Given the description of an element on the screen output the (x, y) to click on. 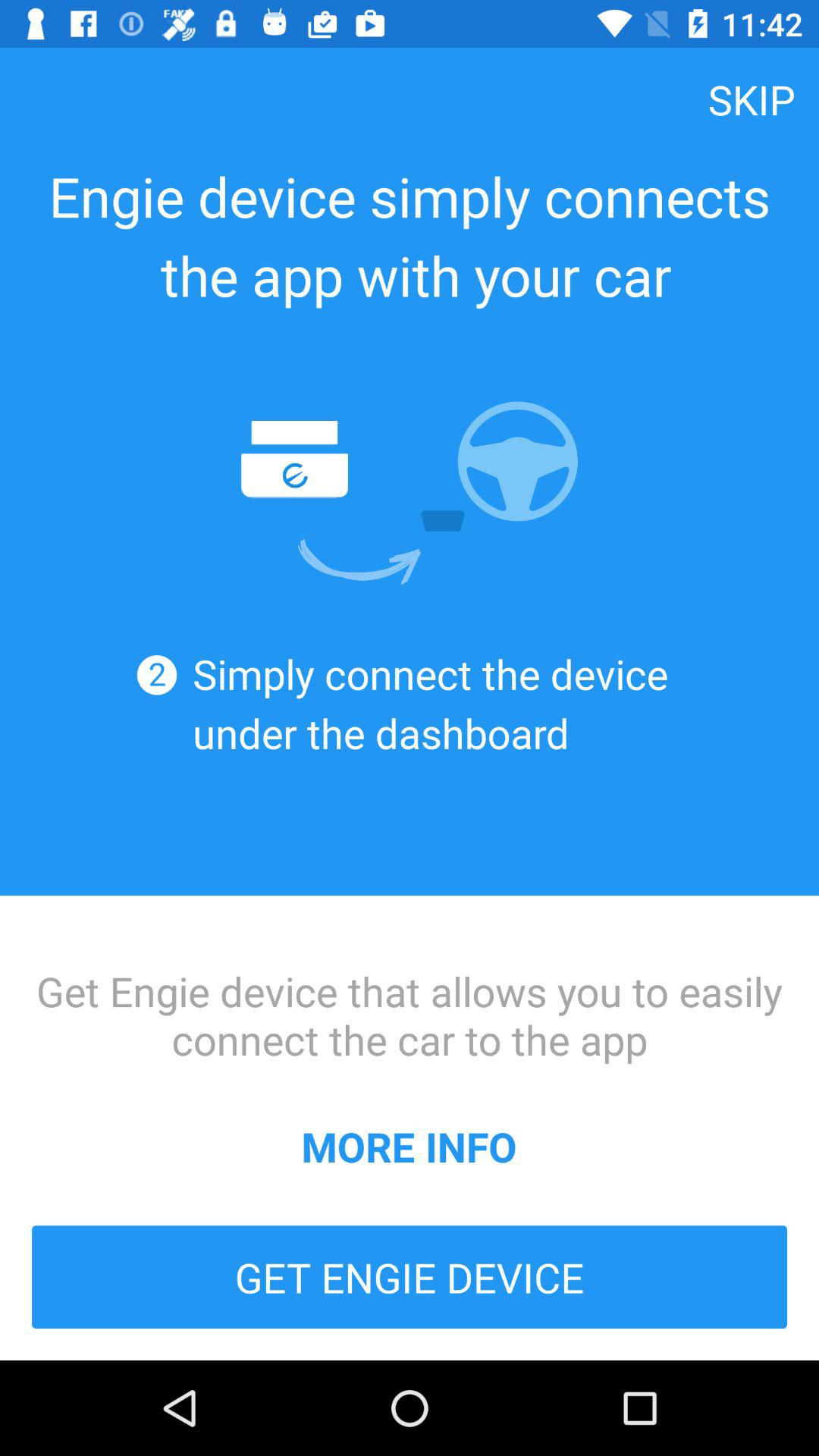
tap more info (408, 1145)
